Given the description of an element on the screen output the (x, y) to click on. 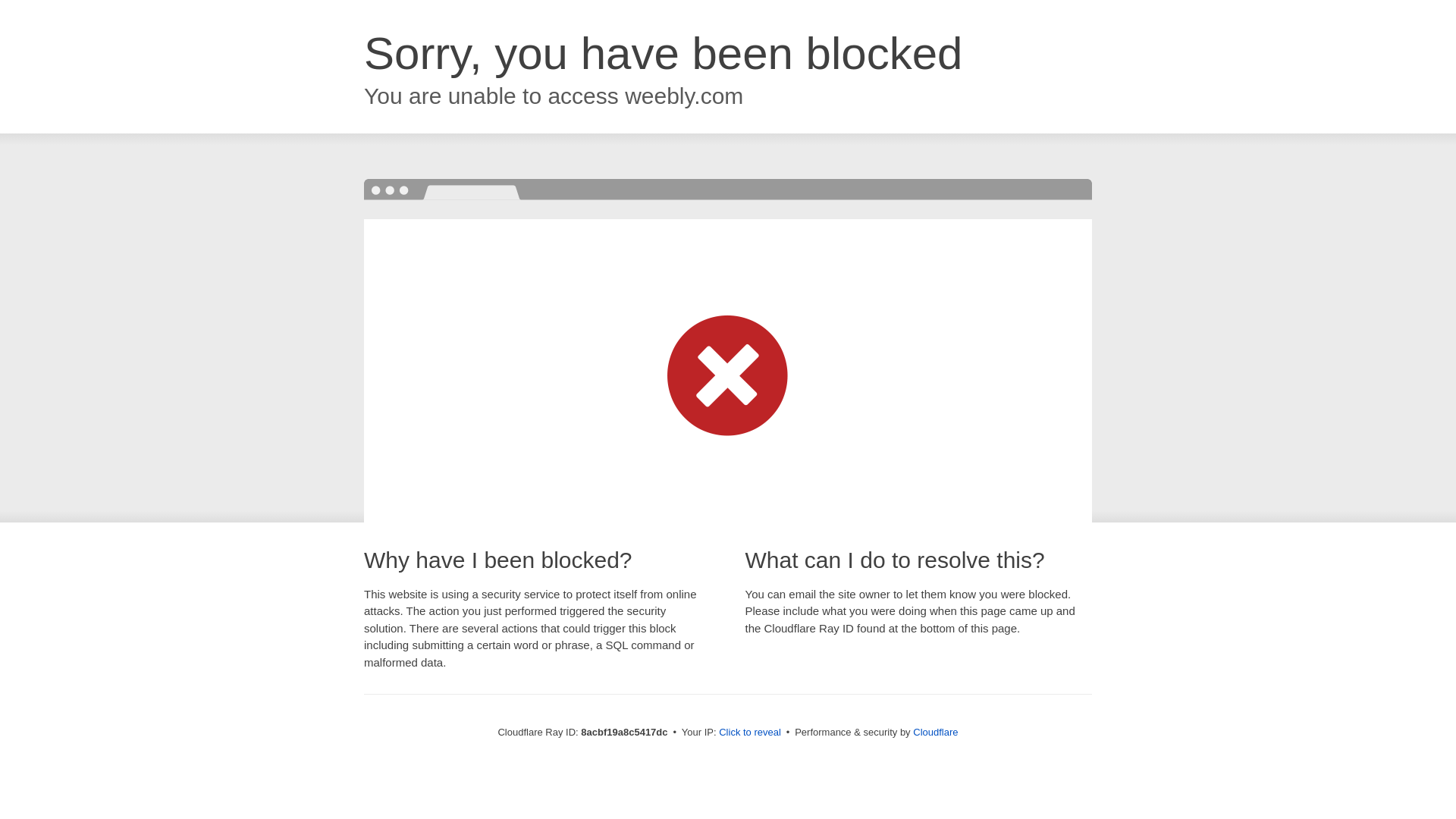
Click to reveal (749, 732)
Cloudflare (935, 731)
